Given the description of an element on the screen output the (x, y) to click on. 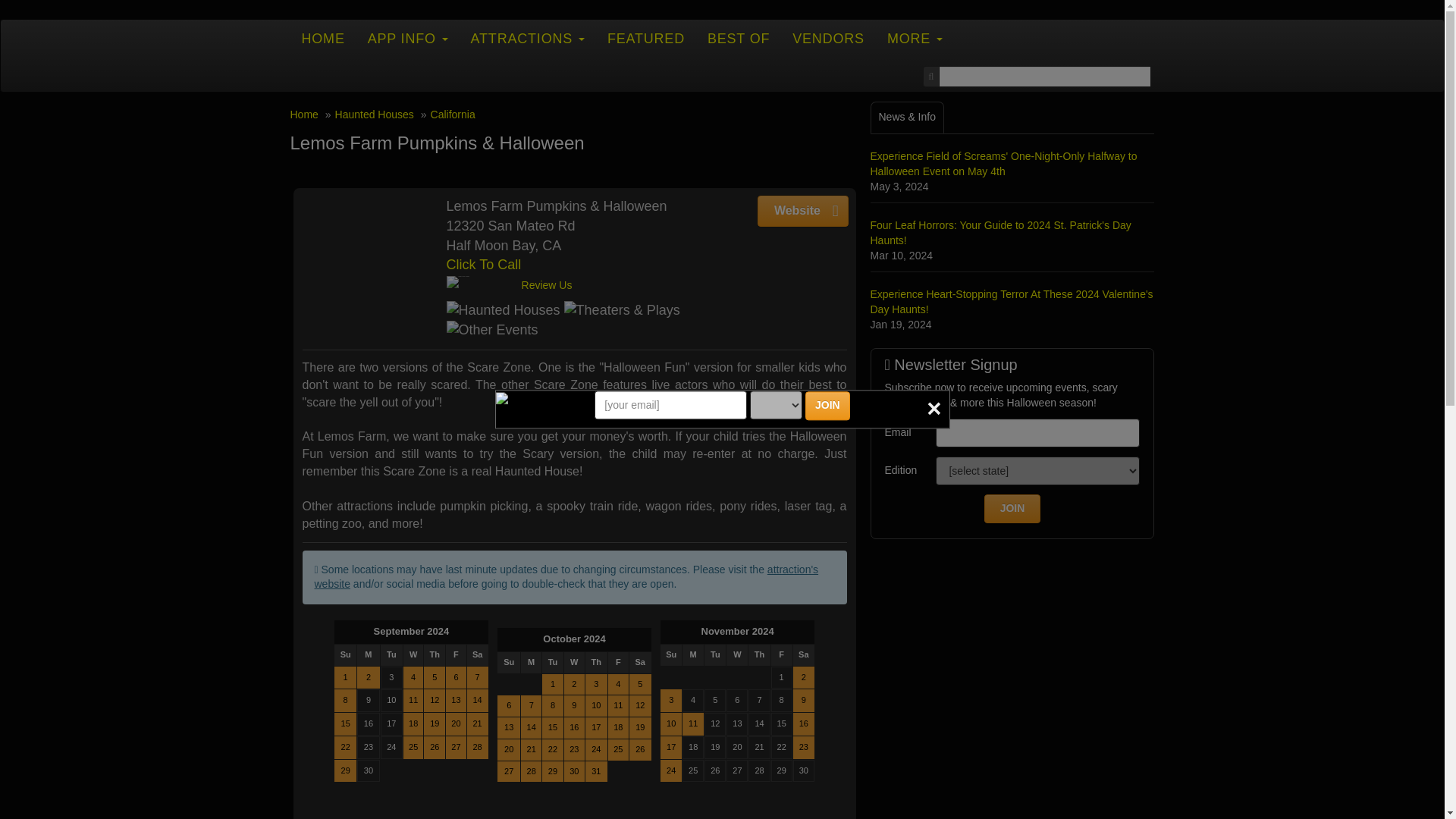
Other Events (491, 330)
APP INFO (408, 38)
ATTRACTIONS (527, 38)
FEATURED (645, 38)
HOME (322, 38)
JOIN (827, 406)
MORE (914, 38)
Haunted Houses (502, 311)
BEST OF (737, 38)
VENDORS (828, 38)
